Given the description of an element on the screen output the (x, y) to click on. 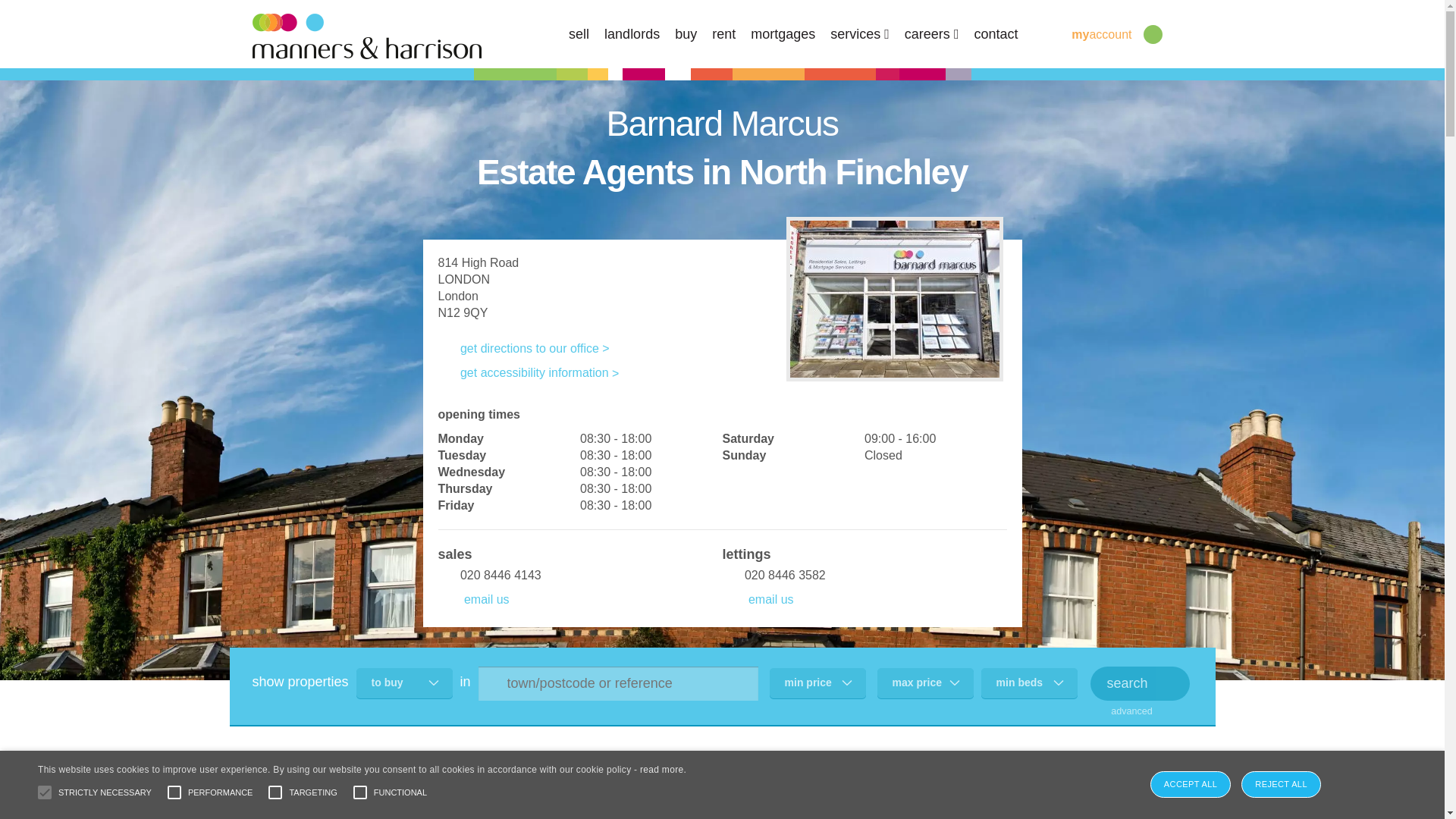
Accessibility information (529, 372)
rent (723, 33)
careers (931, 33)
buy (686, 33)
contact (995, 33)
mortgages (783, 33)
landlords (631, 33)
services (859, 33)
sell (579, 33)
myaccount (1088, 33)
